Given the description of an element on the screen output the (x, y) to click on. 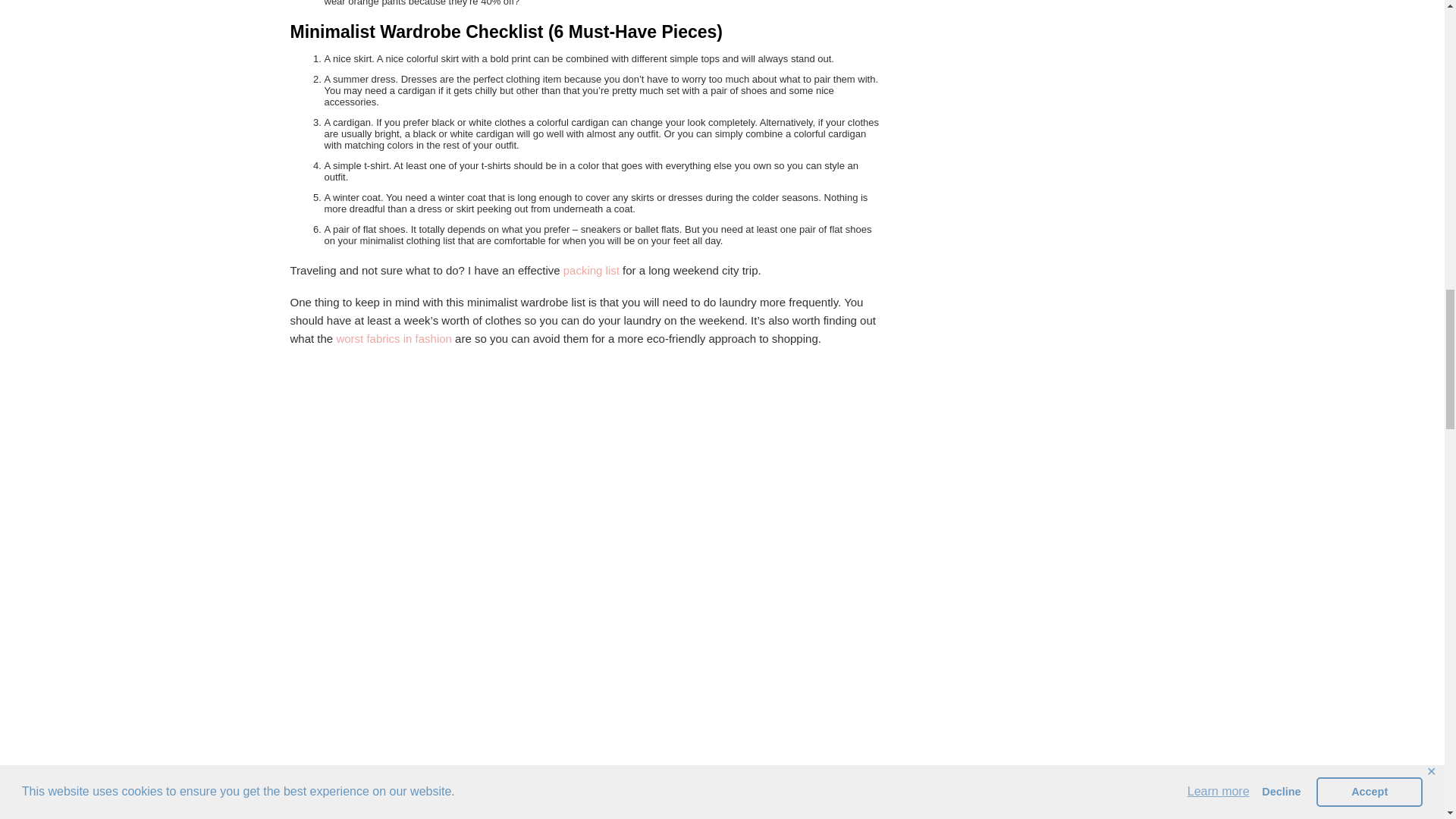
worst fabrics in fashion (392, 338)
packing list (591, 269)
